Given the description of an element on the screen output the (x, y) to click on. 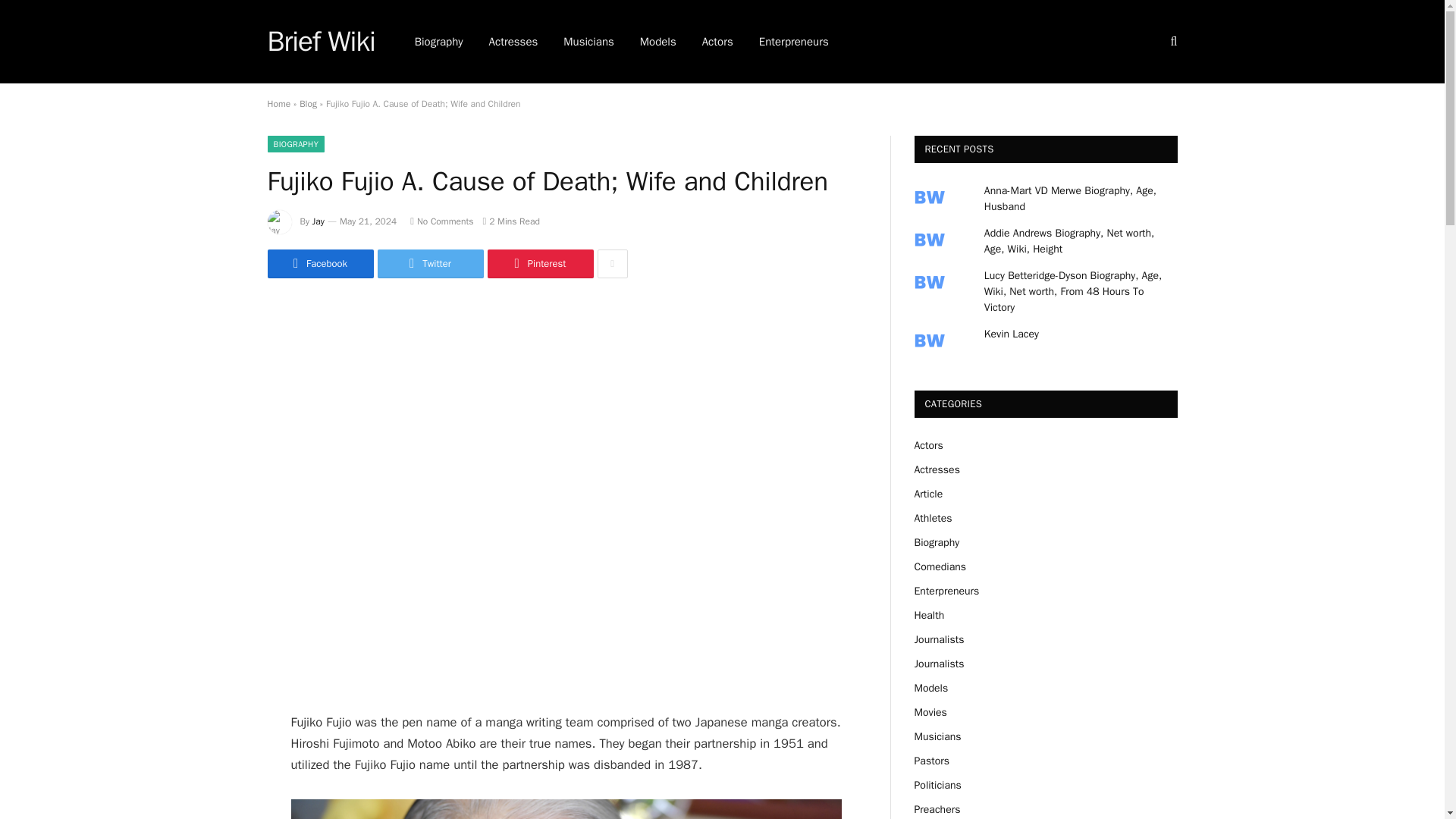
Musicians (588, 41)
Share on Facebook (319, 263)
Posts by Jay (318, 221)
Show More Social Sharing (611, 263)
Actresses (513, 41)
BIOGRAPHY (295, 143)
Home (277, 103)
Pinterest (539, 263)
Share on Pinterest (539, 263)
